Given the description of an element on the screen output the (x, y) to click on. 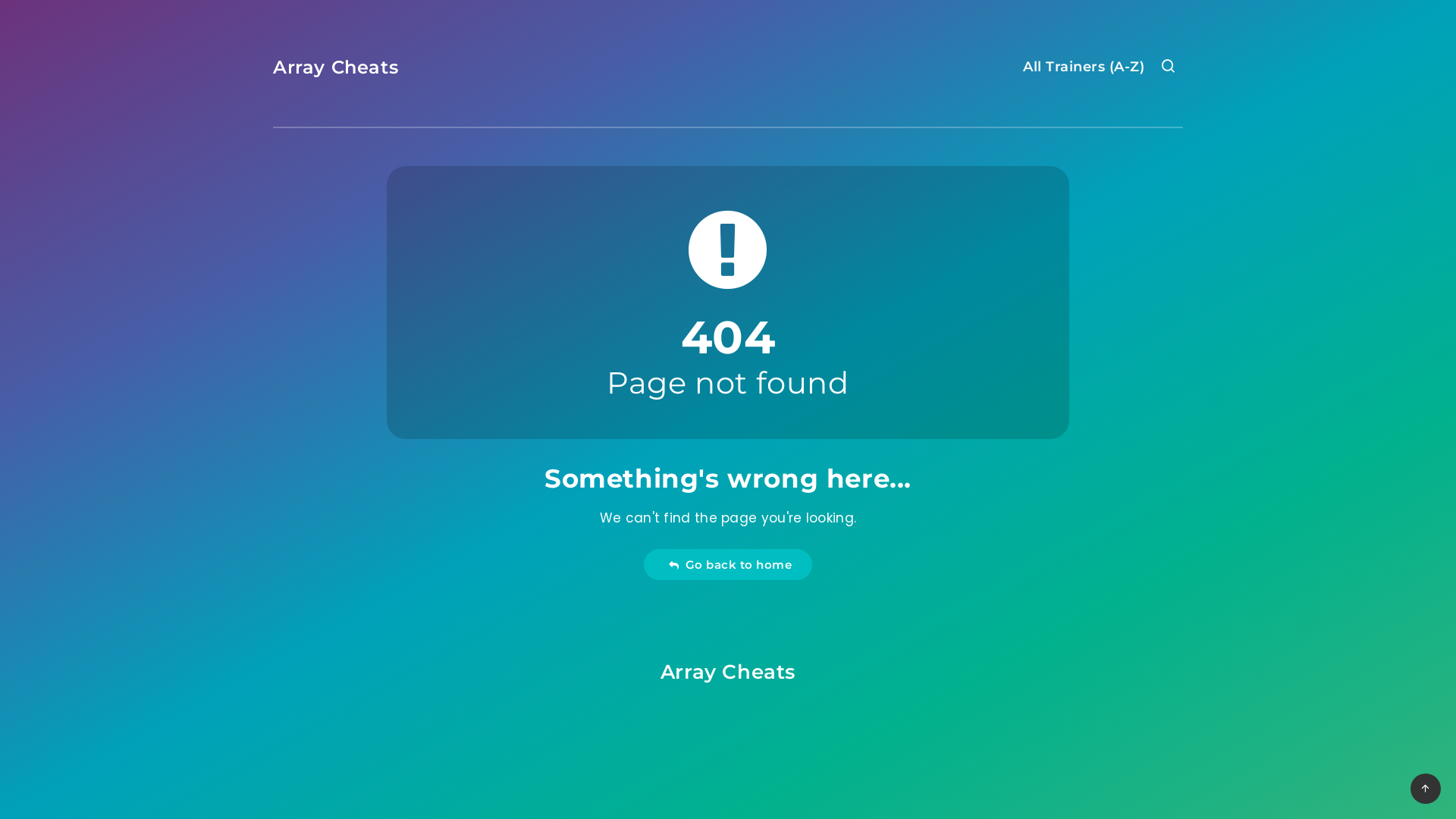
Array Cheats Element type: text (727, 671)
All Trainers (A-Z) Element type: text (1083, 68)
 Go back to home Element type: text (727, 564)
Array Cheats Element type: text (335, 67)
